Given the description of an element on the screen output the (x, y) to click on. 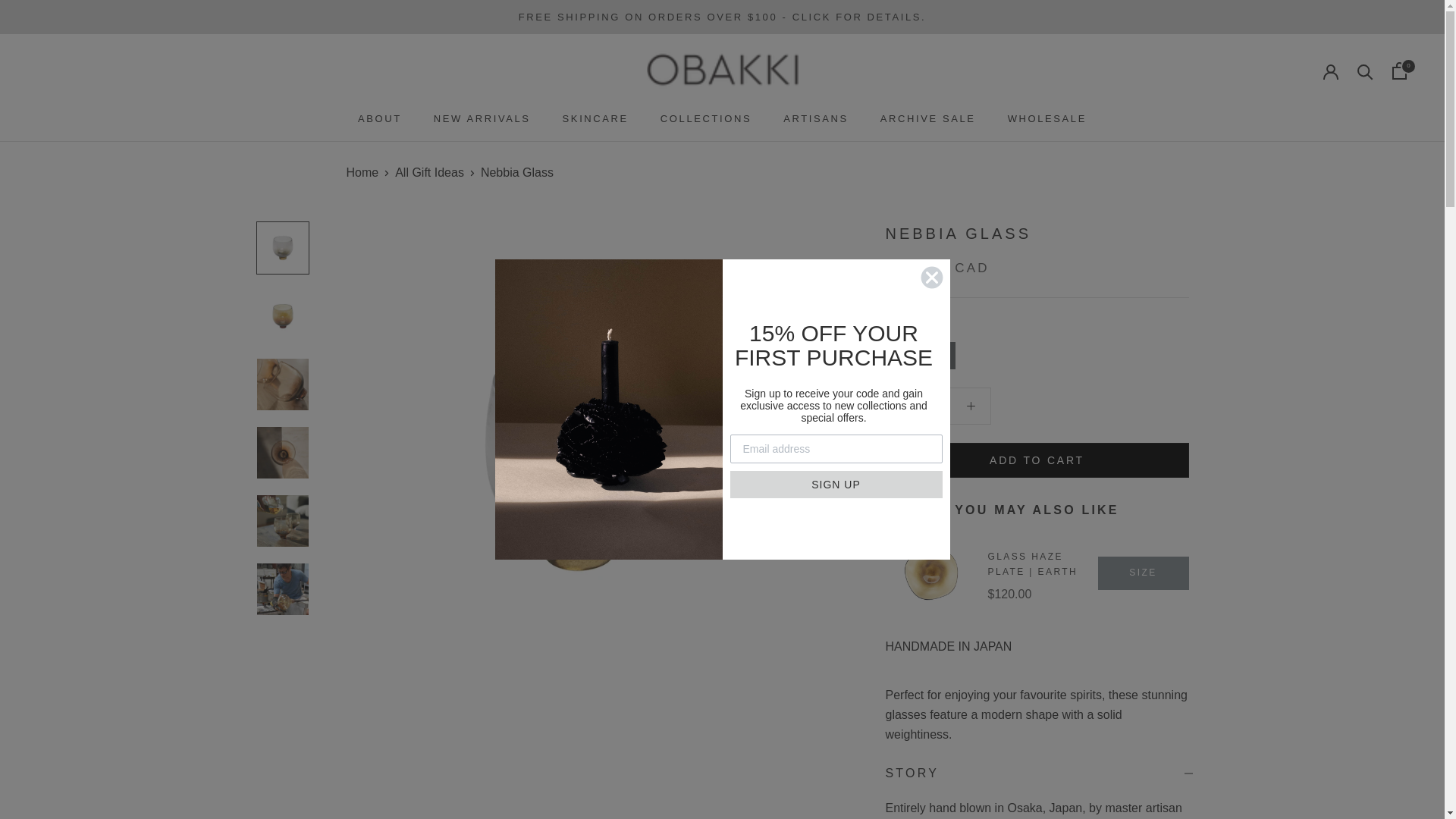
1 (938, 405)
